Given the description of an element on the screen output the (x, y) to click on. 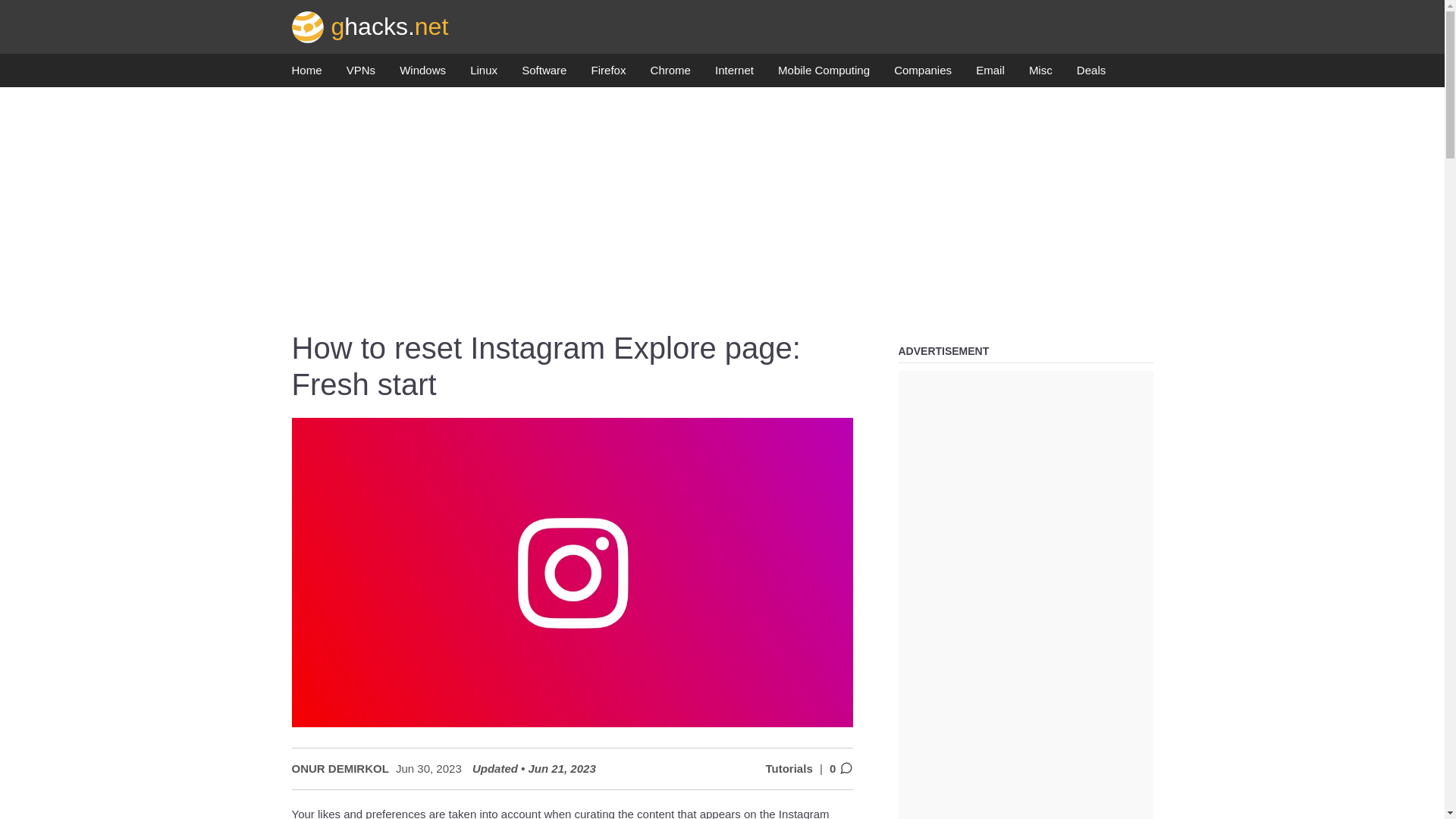
Home (306, 73)
ghacks.net (369, 26)
Internet (734, 73)
Linux (483, 73)
Email (989, 73)
Chrome (670, 73)
Windows (421, 73)
Misc (1040, 73)
Mobile Computing (823, 73)
Firefox (608, 73)
